Given the description of an element on the screen output the (x, y) to click on. 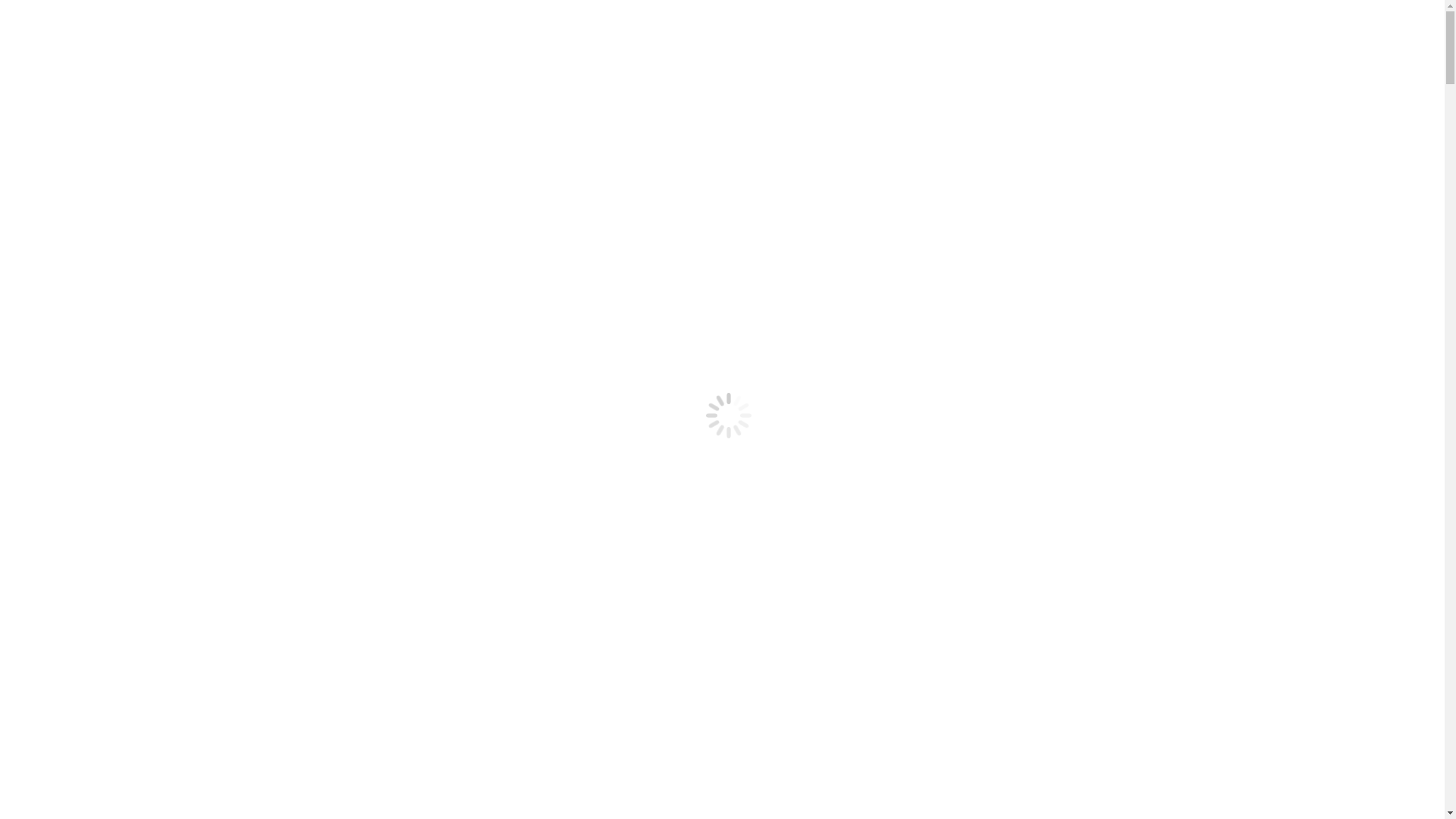
Bosna i Hercegovina Element type: text (117, 338)
O nama Element type: text (55, 90)
Home Element type: text (50, 77)
Kazakhstan Element type: text (94, 159)
Poljska Element type: text (84, 392)
Portfolio Element type: text (57, 324)
Bosna i Hercegovina Element type: text (117, 118)
Crna Gora Element type: text (91, 351)
Srbija Element type: text (80, 200)
Slovenija Element type: text (89, 213)
Poljska Element type: text (84, 172)
Hrvatska Element type: text (88, 145)
Hrvatska Element type: text (88, 365)
Crna Gora Element type: text (91, 131)
Portfolio Element type: text (57, 104)
Slovenija Element type: text (89, 433)
Rusija Element type: text (81, 406)
Go! Element type: text (20, 271)
Kontakt Element type: text (55, 227)
Kazakhstan Element type: text (94, 379)
Skip to content Element type: text (5, 5)
O nama Element type: text (55, 310)
Kontakt Element type: text (55, 447)
Srbija Element type: text (80, 420)
Search form Element type: hover (73, 255)
Rusija Element type: text (81, 186)
Home Element type: text (50, 297)
